Given the description of an element on the screen output the (x, y) to click on. 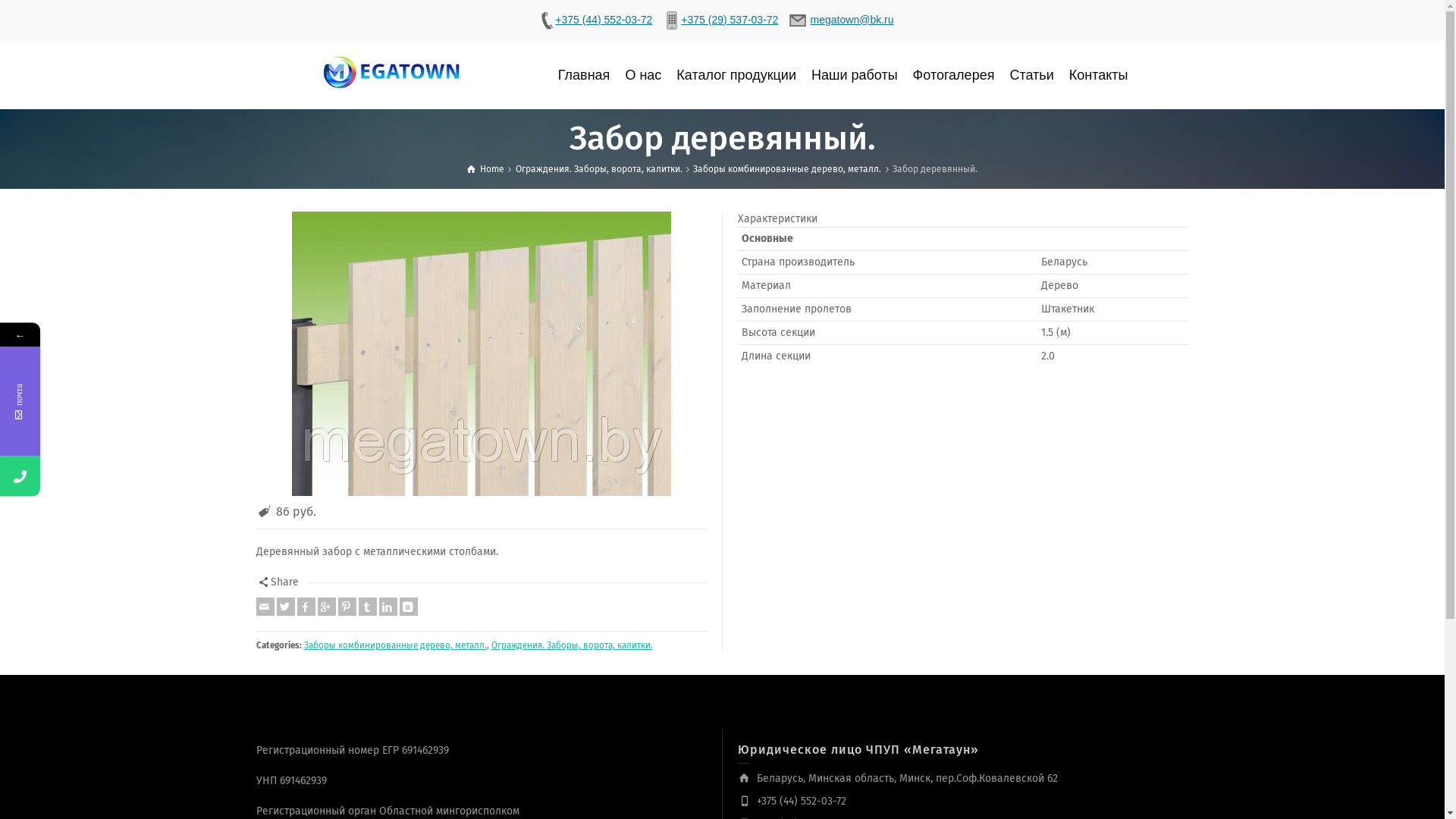
Google + Element type: hover (325, 606)
Phone Element type: text (92, 476)
Home Element type: text (485, 168)
Search Element type: hover (1173, 75)
megatown@bk.ru Element type: text (842, 19)
Pinterest Element type: hover (347, 606)
Email Element type: hover (265, 606)
Enlarge Image Element type: hover (481, 353)
Linkedin Element type: hover (388, 606)
Tumblr Element type: hover (366, 606)
+375 (44) 552-03-72 Element type: text (594, 19)
Facebook Element type: hover (306, 606)
Vkontakte Element type: hover (407, 606)
+375 (29) 537-03-72 Element type: text (720, 19)
Twitter Element type: hover (285, 606)
